Given the description of an element on the screen output the (x, y) to click on. 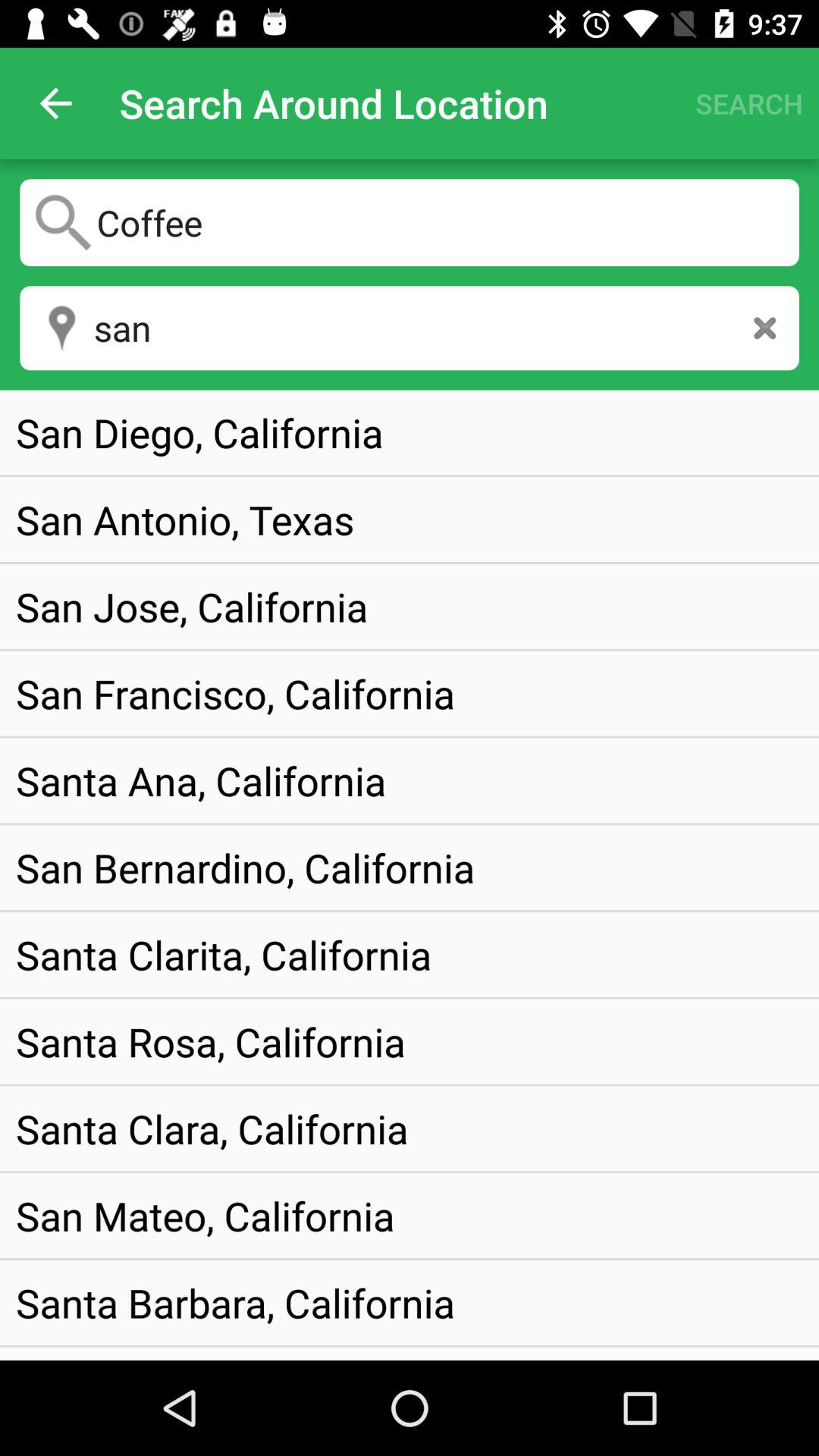
flip until the san bernardino, california item (245, 867)
